Given the description of an element on the screen output the (x, y) to click on. 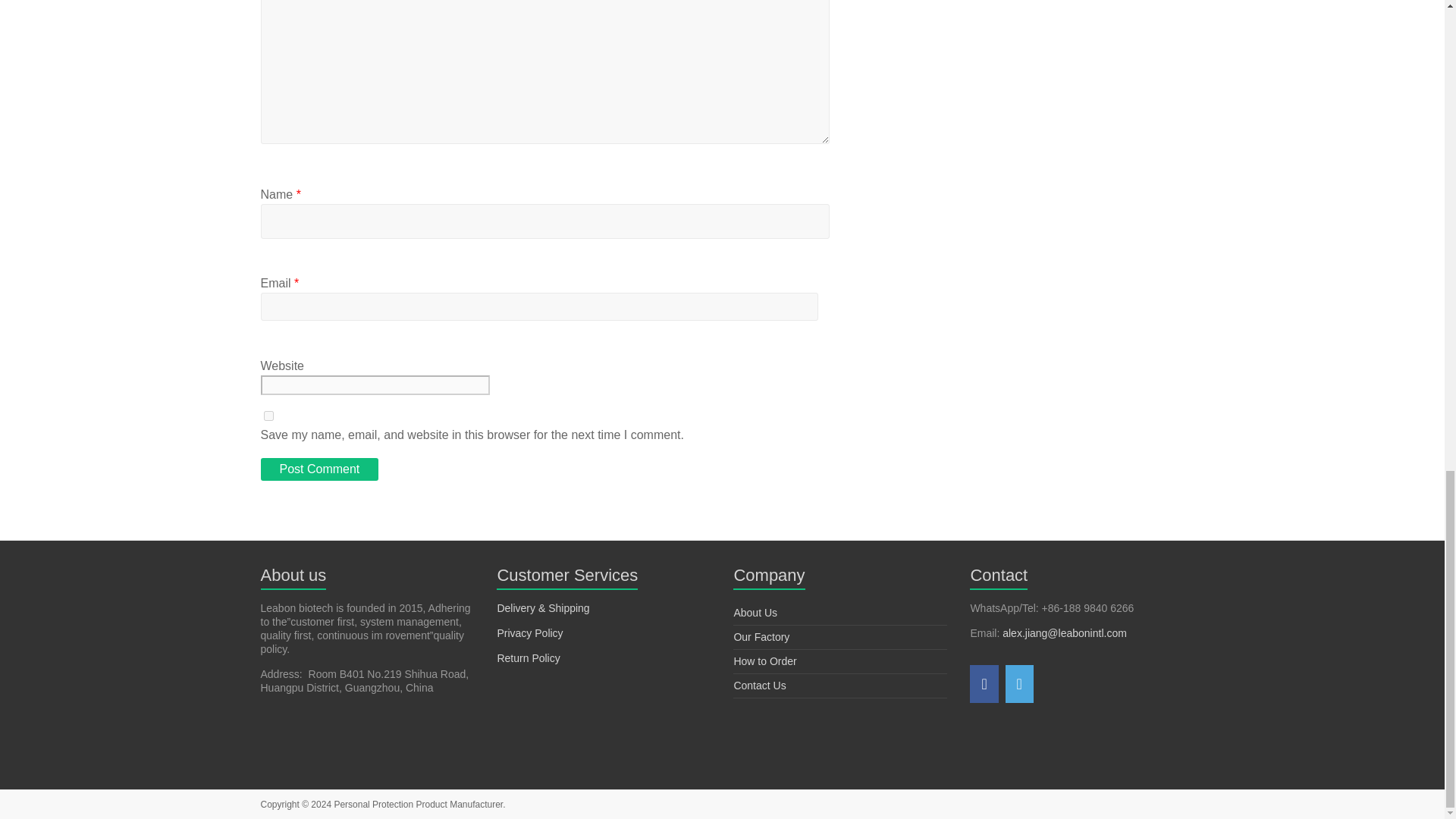
Post Comment (319, 468)
Personal Protection Product Manufacturer (417, 804)
yes (268, 415)
Post Comment (319, 468)
